Given the description of an element on the screen output the (x, y) to click on. 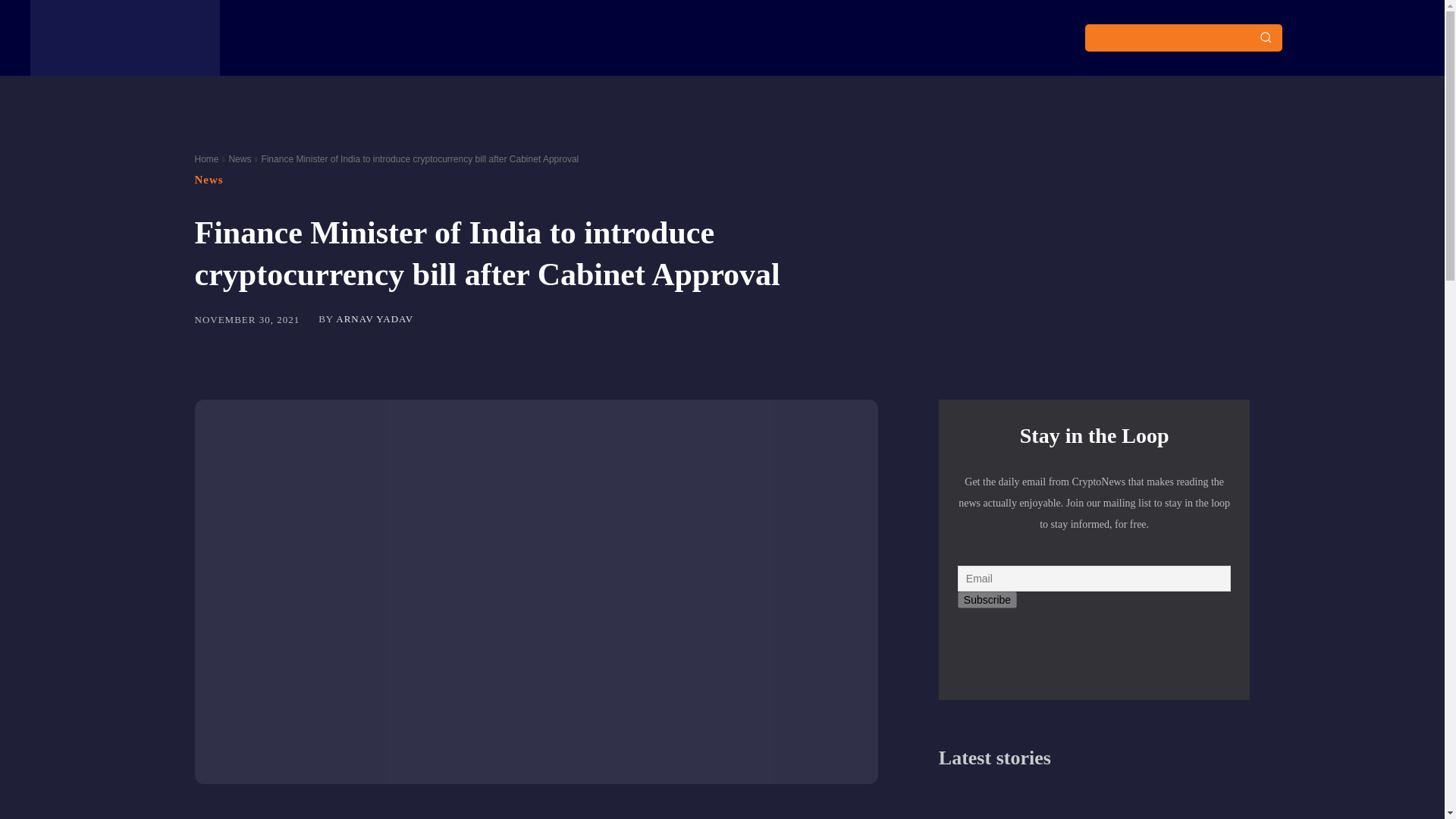
View all posts in News (239, 158)
Subscribe (987, 599)
